Given the description of an element on the screen output the (x, y) to click on. 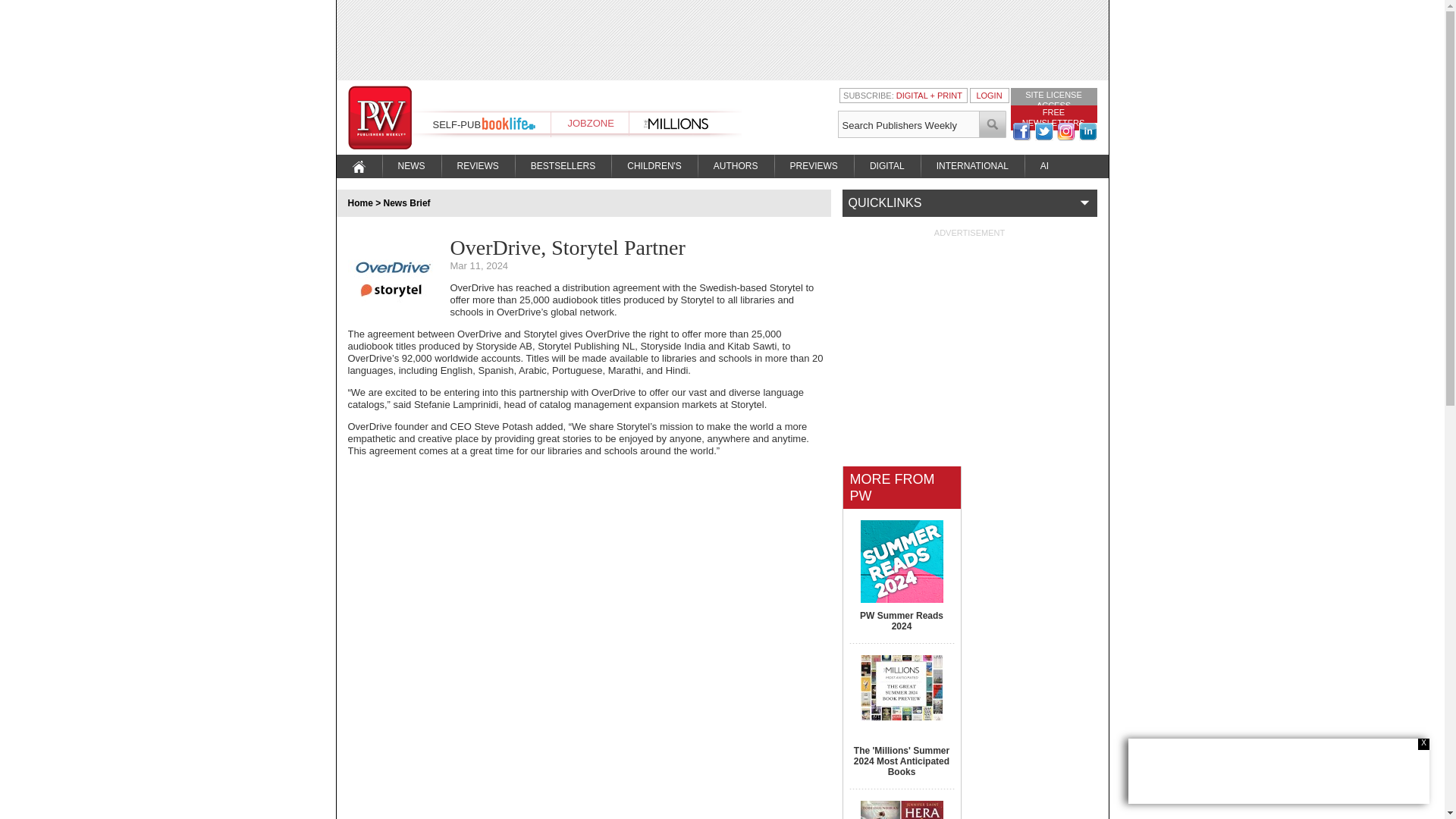
News Brief (407, 203)
3rd party ad content (969, 332)
LOGIN (988, 94)
JOBZONE (589, 122)
Search Publishers Weekly (907, 124)
PW Summer Reads 2024 (901, 620)
SITE LICENSE ACCESS (1053, 99)
The 'Millions' Summer 2024 Most Anticipated Books (901, 761)
3rd party ad content (1278, 770)
submit (992, 124)
SELF-PUB (456, 124)
FREE NEWSLETTERS (1053, 117)
Home (359, 203)
3rd party ad content (721, 38)
